Given the description of an element on the screen output the (x, y) to click on. 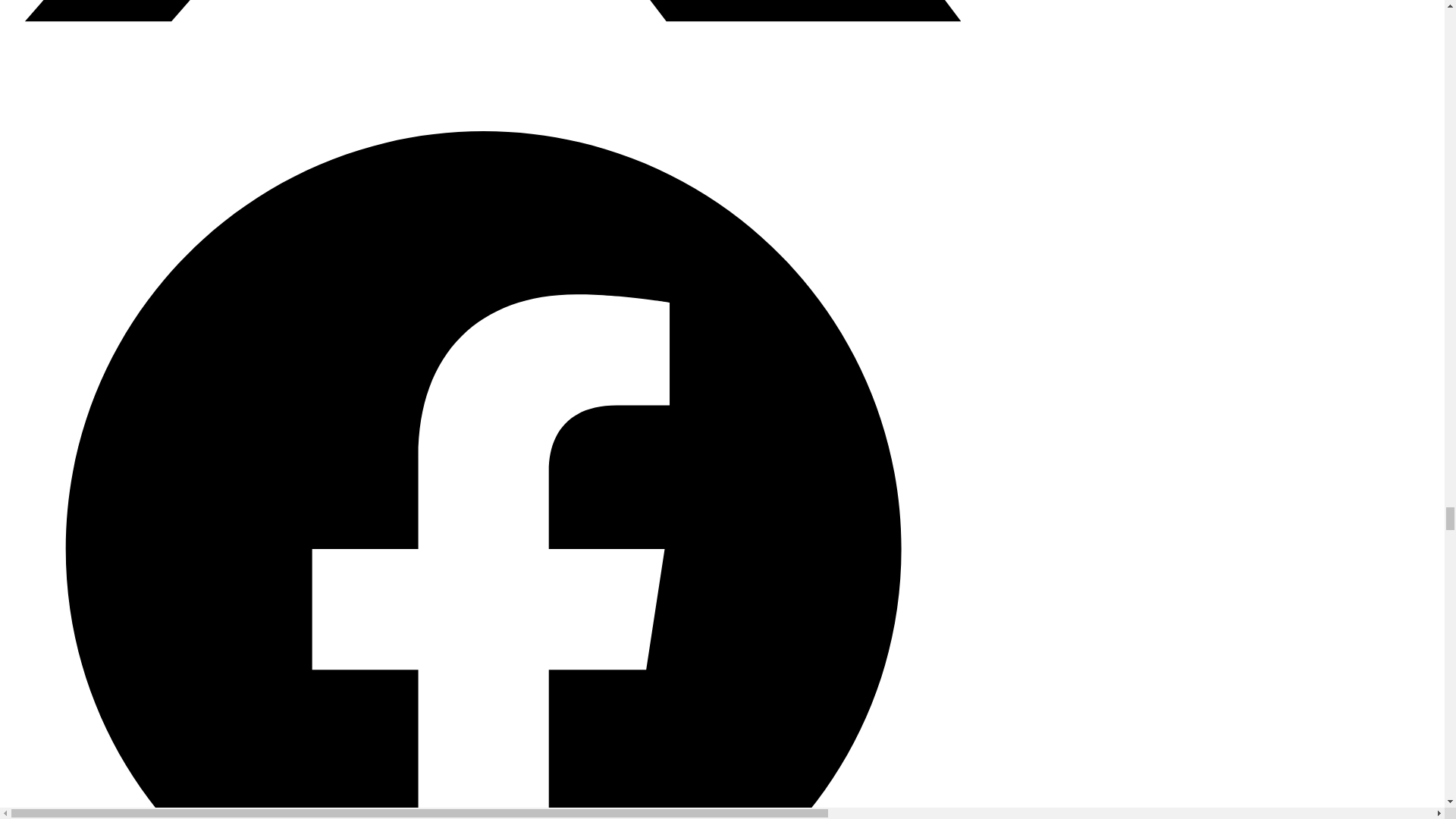
Share to X (482, 61)
